Given the description of an element on the screen output the (x, y) to click on. 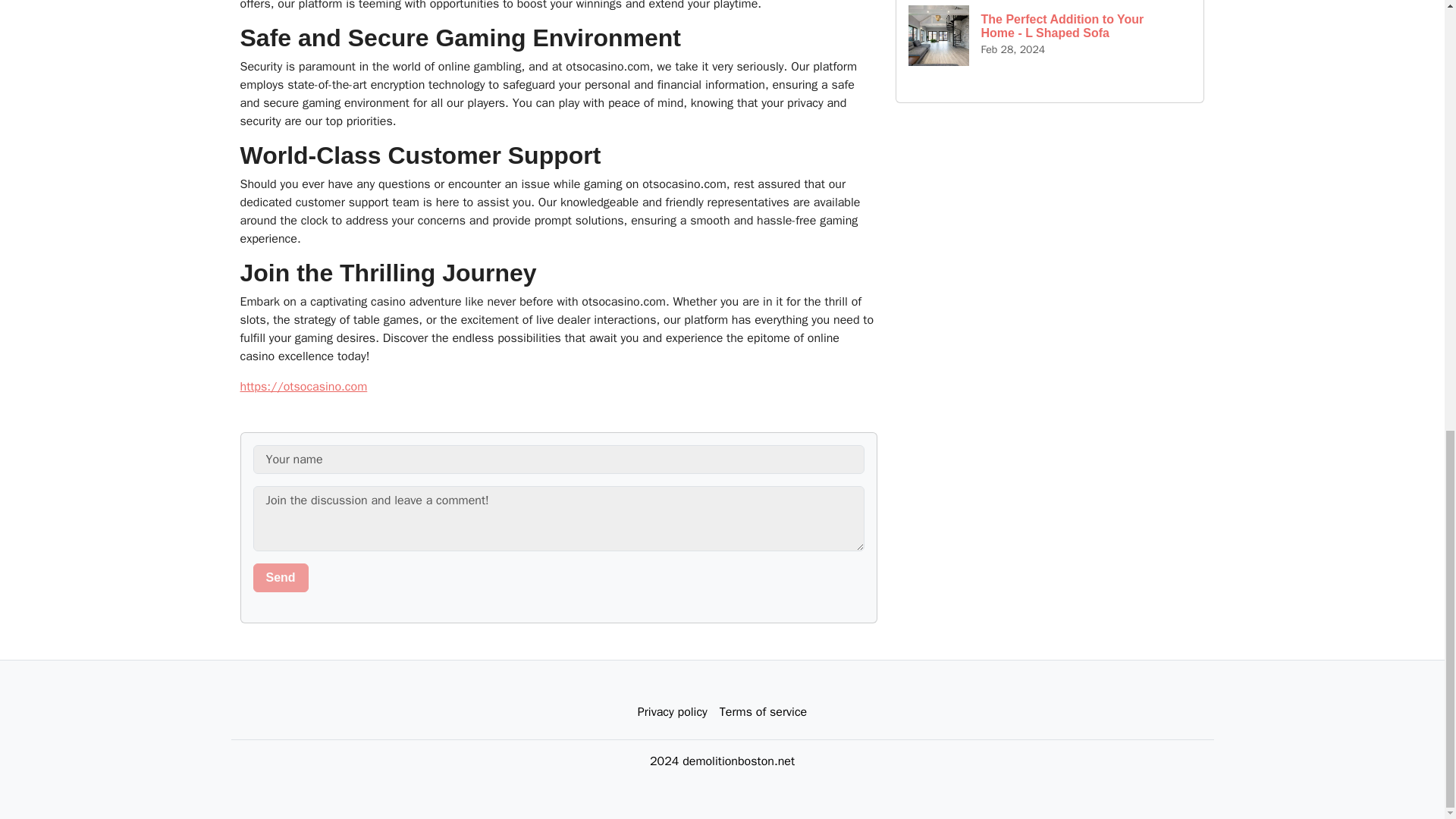
Send (280, 577)
Terms of service (762, 711)
Privacy policy (672, 711)
Send (280, 577)
